Given the description of an element on the screen output the (x, y) to click on. 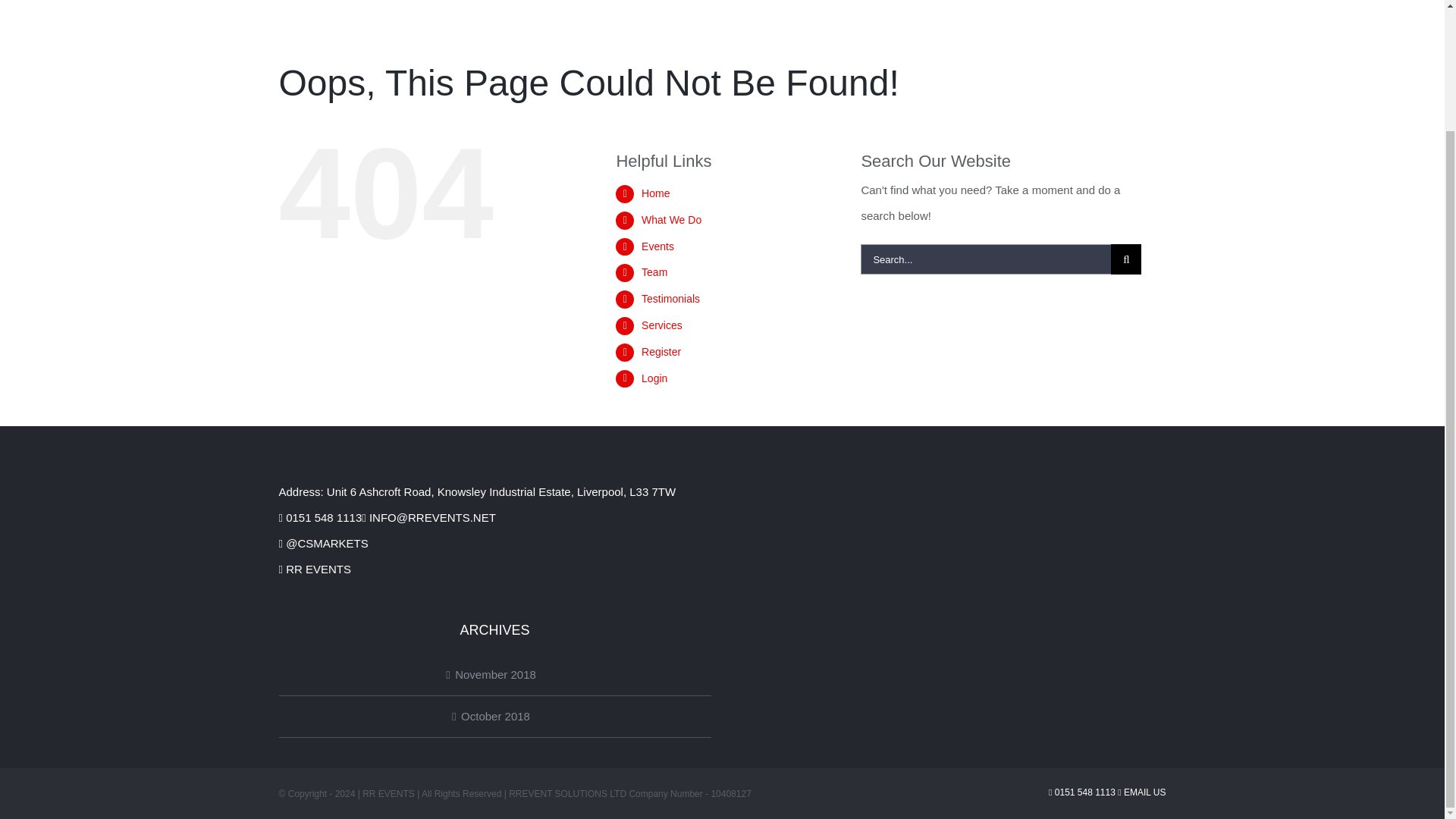
Login (654, 378)
Team (654, 272)
Testimonials (671, 298)
RR EVENTS (315, 568)
Events (658, 246)
What We Do (671, 219)
Home (655, 193)
Services (662, 325)
EMAIL US (1142, 792)
Register (661, 351)
